Given the description of an element on the screen output the (x, y) to click on. 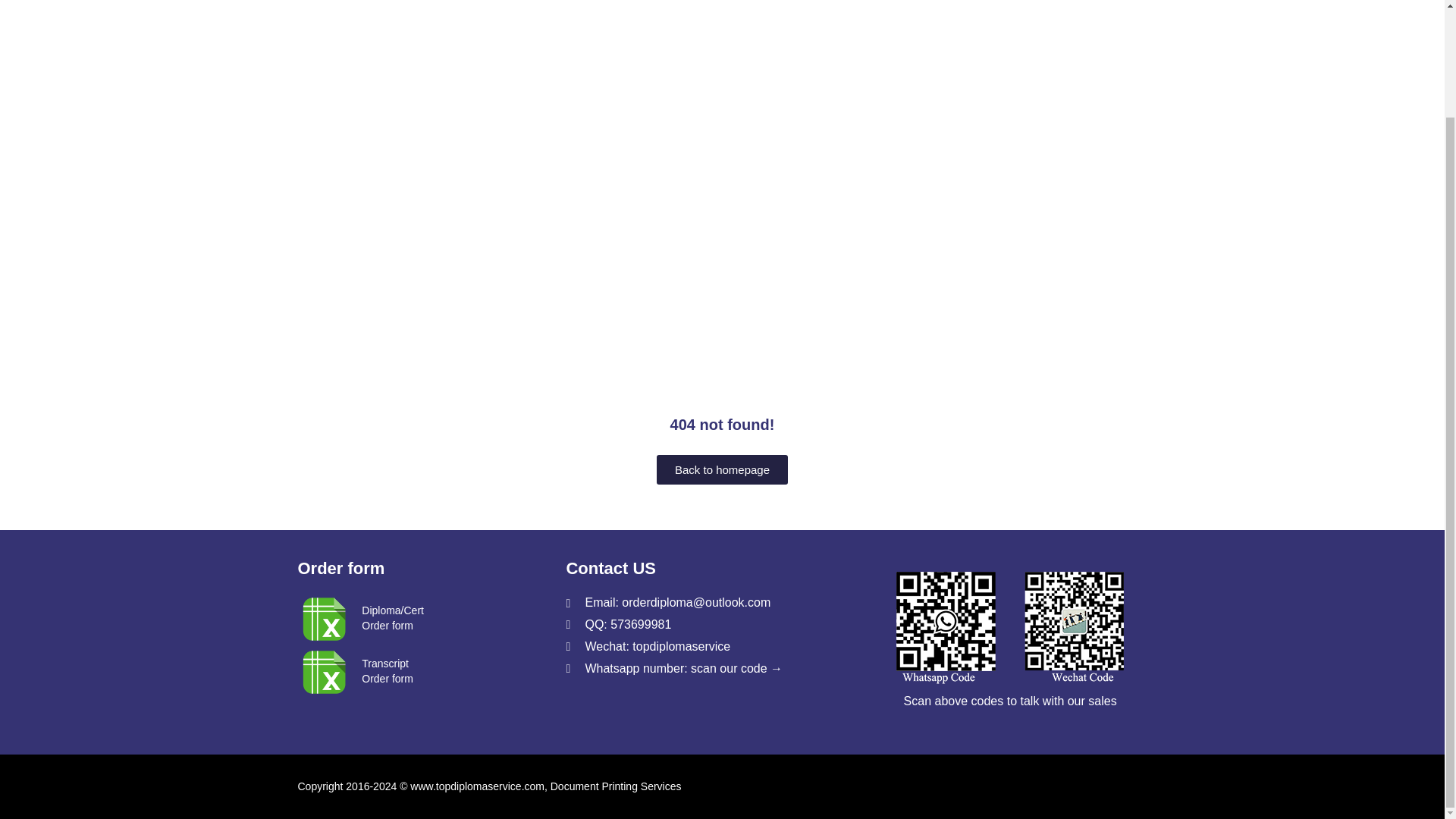
Back to homepage (721, 469)
